Given the description of an element on the screen output the (x, y) to click on. 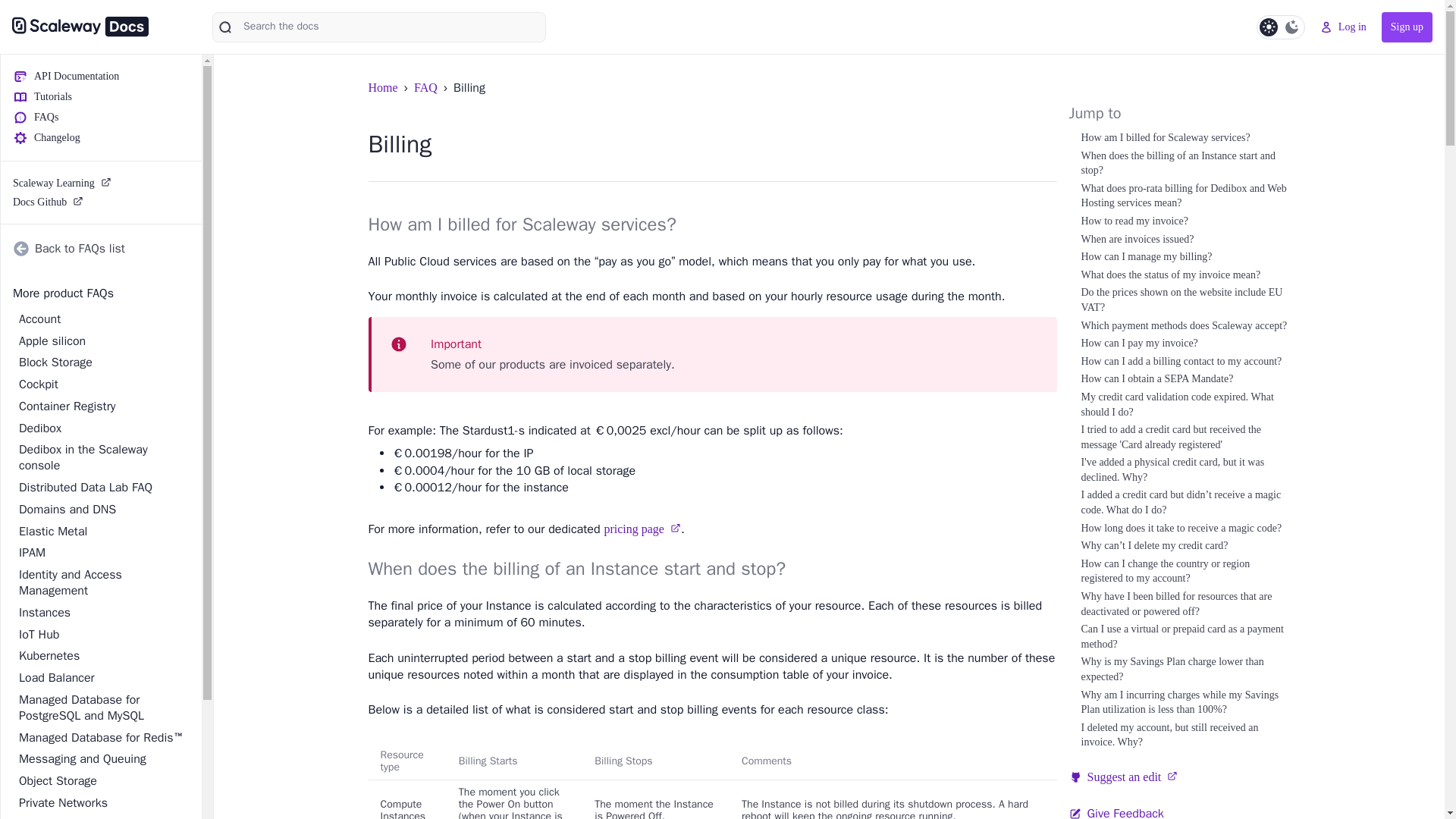
IPAM (101, 553)
Back to FAQs list (101, 248)
Docs Github (101, 201)
API Documentation (101, 75)
FAQs (101, 116)
Elastic Metal (101, 531)
on (1280, 27)
Tutorials (101, 96)
Sign up (1406, 27)
Apple silicon (101, 341)
